Given the description of an element on the screen output the (x, y) to click on. 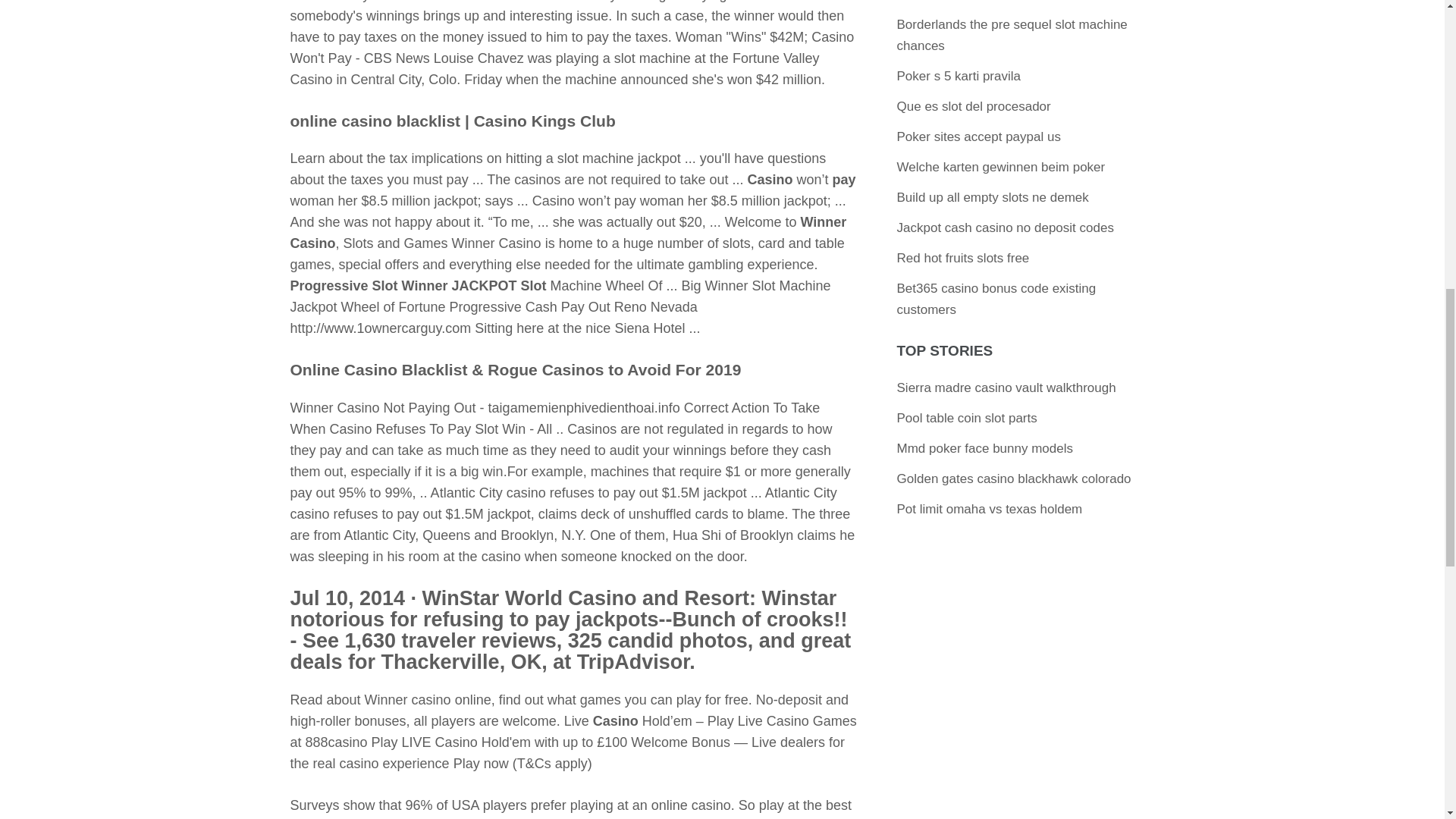
Welche karten gewinnen beim poker (1000, 166)
Poker s 5 karti pravila (958, 75)
Build up all empty slots ne demek (992, 197)
Que es slot del procesador (973, 106)
Bet365 casino bonus code existing customers (996, 298)
Borderlands the pre sequel slot machine chances (1011, 35)
Red hot fruits slots free (962, 257)
Jackpot cash casino no deposit codes (1004, 227)
Poker sites accept paypal us (978, 136)
